Given the description of an element on the screen output the (x, y) to click on. 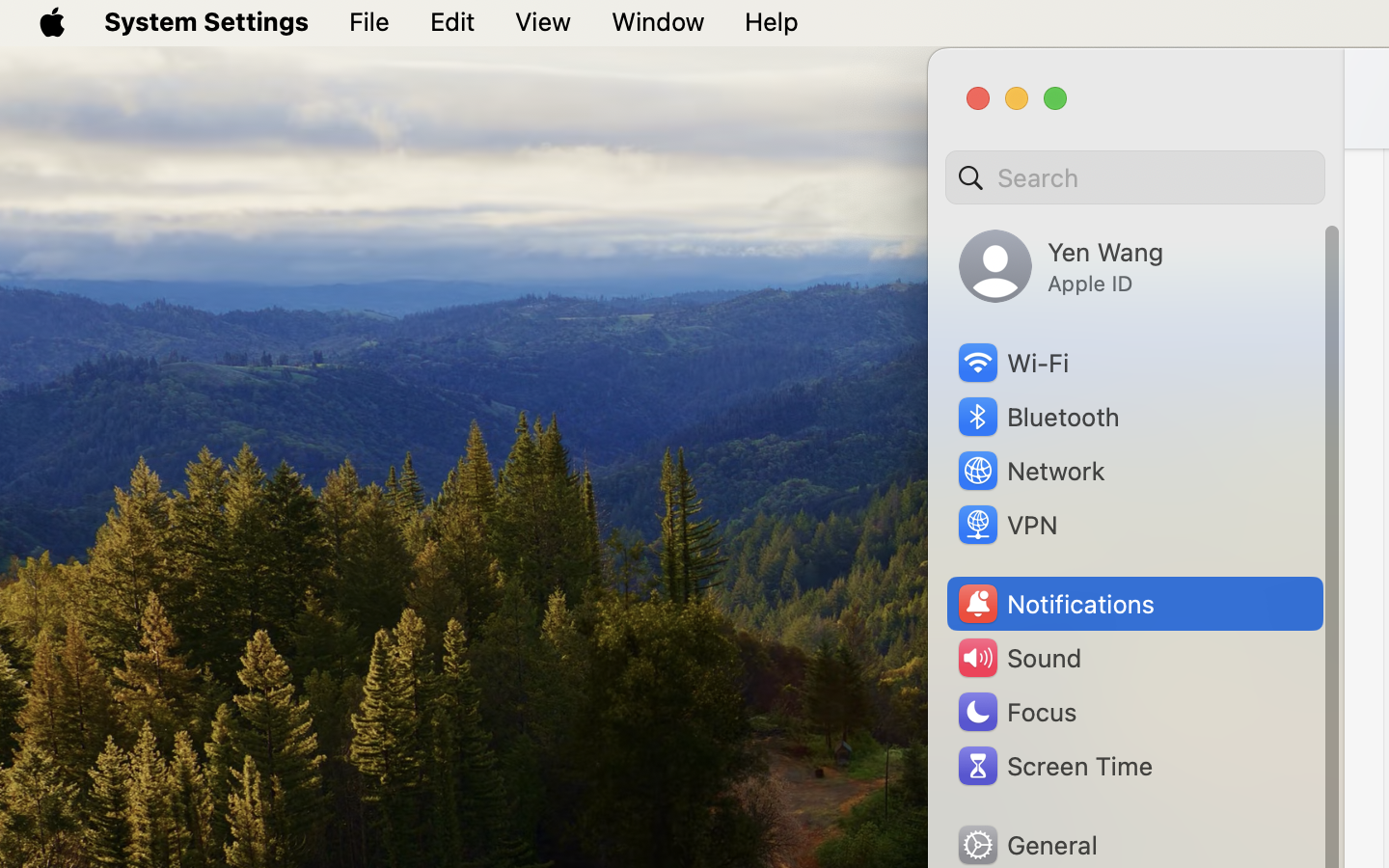
Sound Element type: AXStaticText (1018, 657)
VPN Element type: AXStaticText (1005, 524)
Yen Wang, Apple ID Element type: AXStaticText (1060, 265)
Bluetooth Element type: AXStaticText (1037, 416)
Wi‑Fi Element type: AXStaticText (1011, 362)
